Given the description of an element on the screen output the (x, y) to click on. 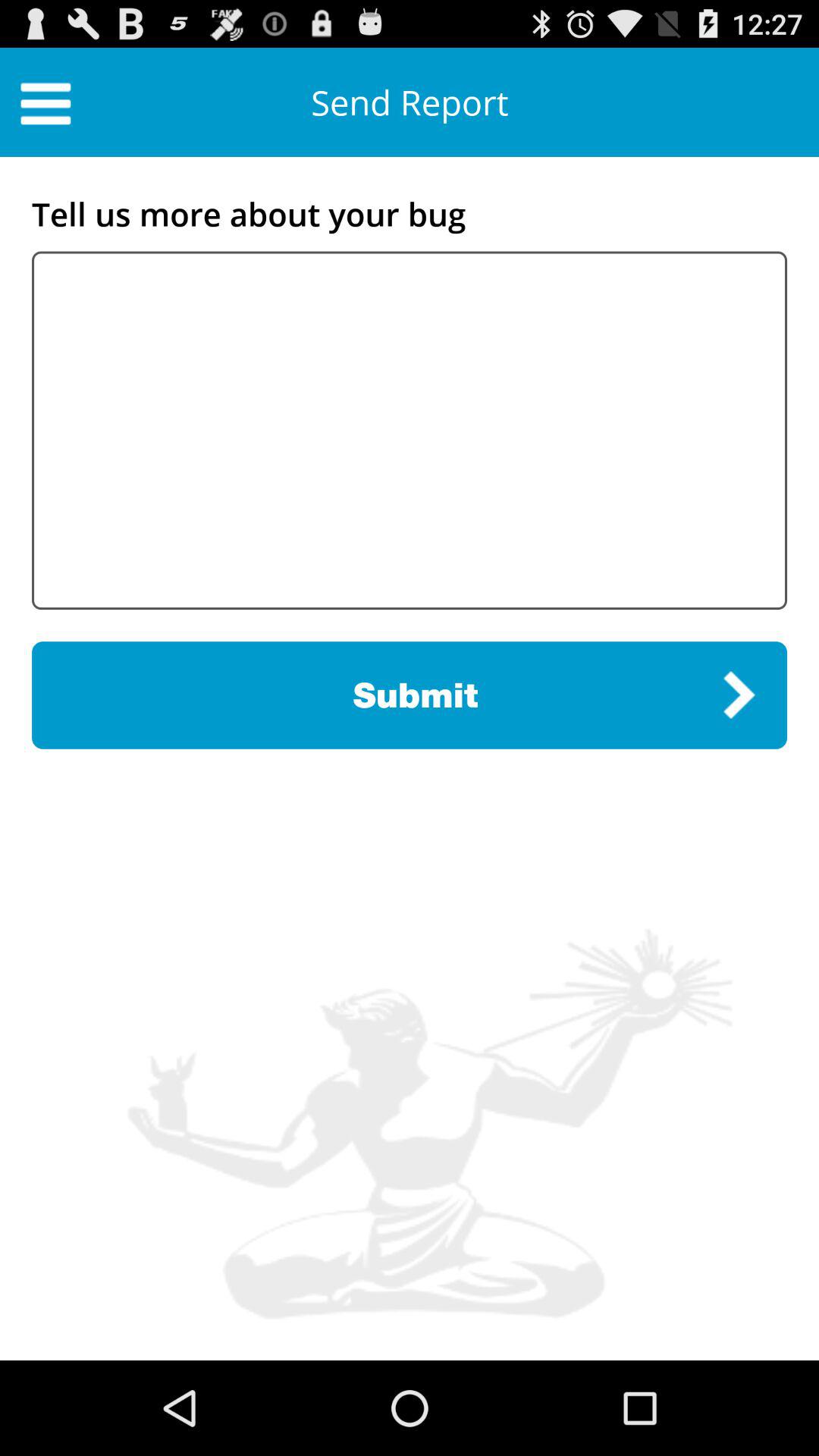
swipe to submit item (409, 695)
